Given the description of an element on the screen output the (x, y) to click on. 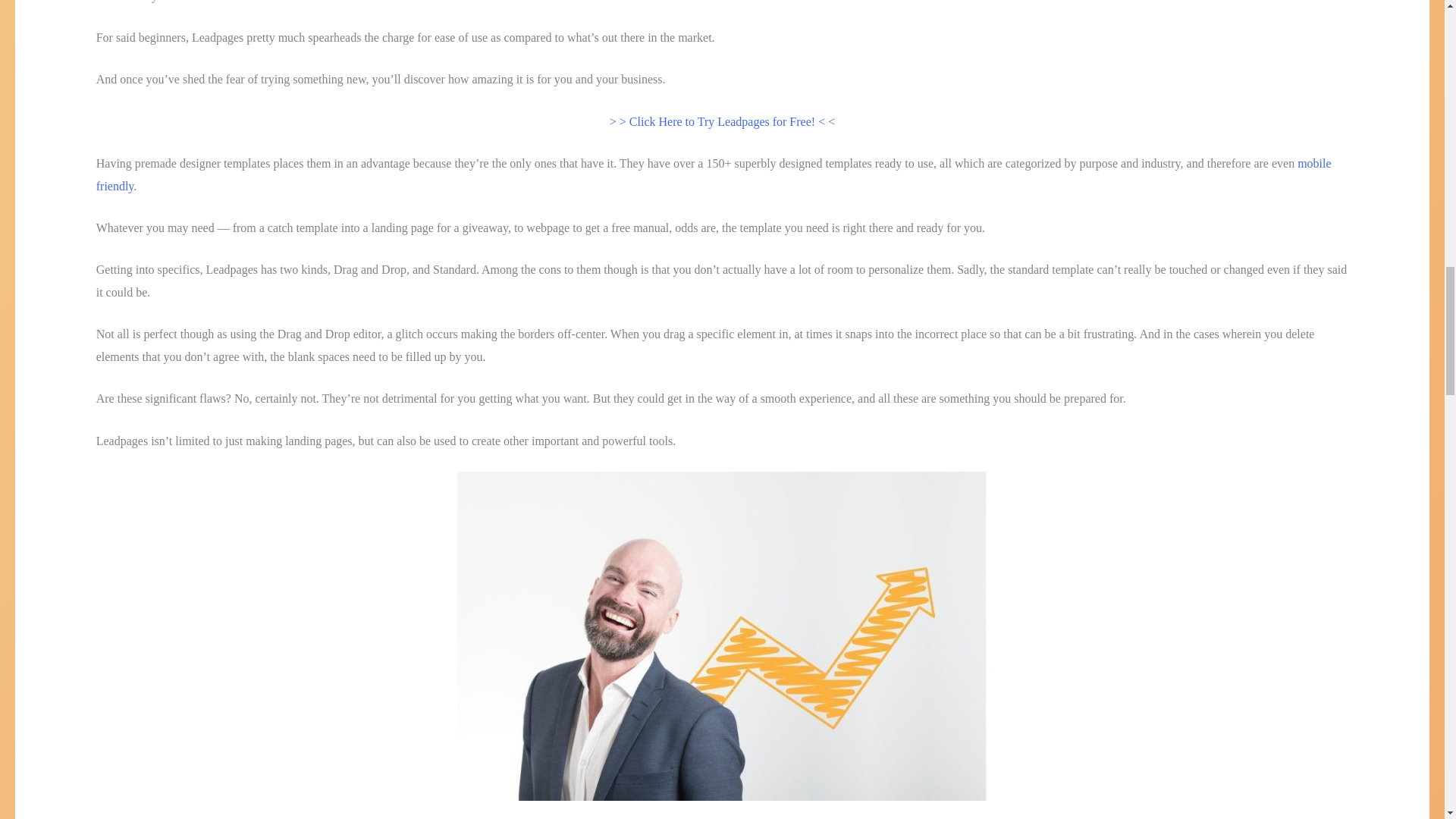
mobile friendly (714, 174)
